Given the description of an element on the screen output the (x, y) to click on. 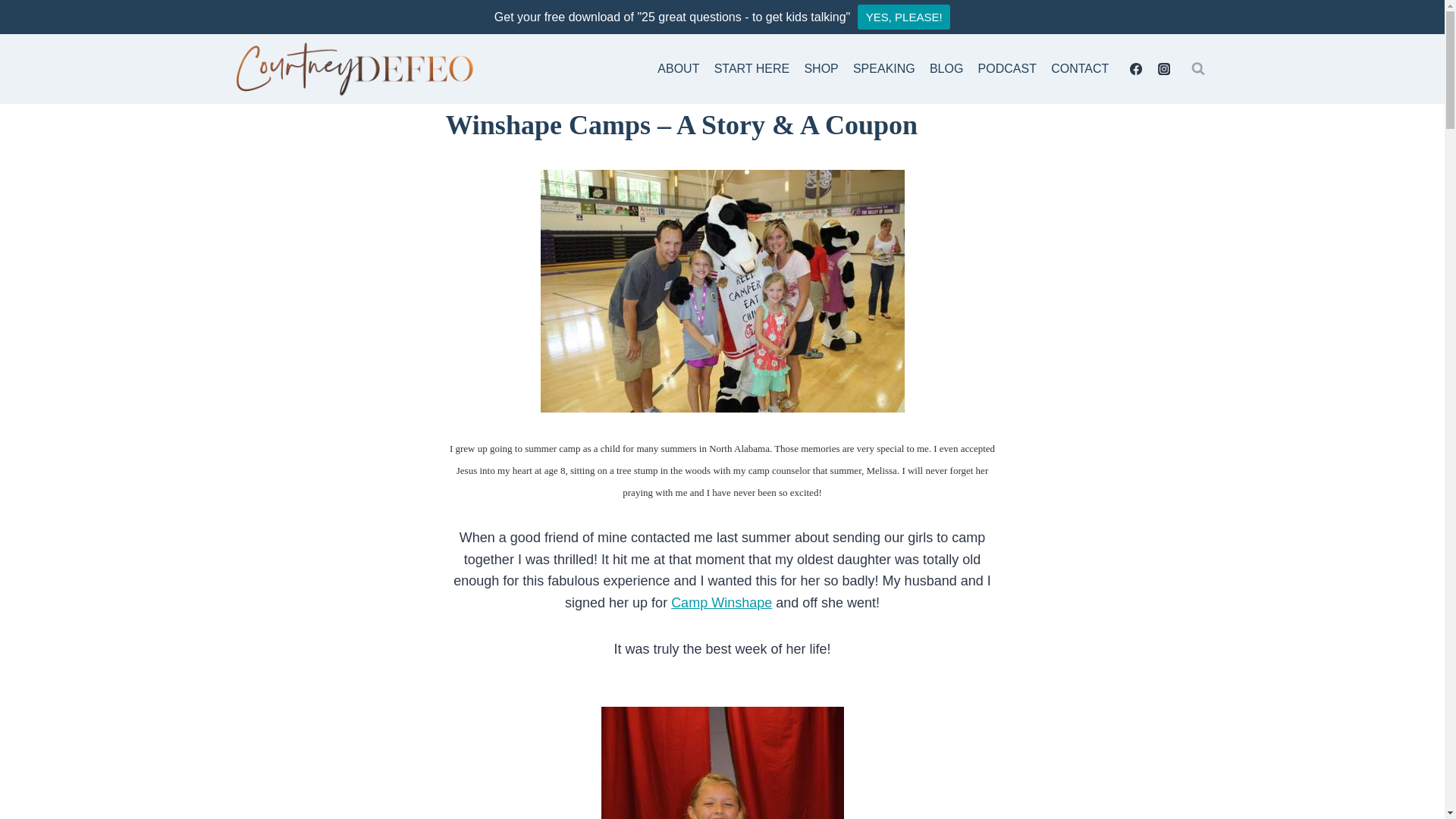
SHOP (820, 69)
UNCATEGORIZED (489, 91)
BLOG (946, 69)
ABOUT (678, 69)
PODCAST (1007, 69)
START HERE (751, 69)
YES, PLEASE! (903, 16)
Camp Winshape (721, 602)
SPEAKING (883, 69)
CONTACT (1079, 69)
